Given the description of an element on the screen output the (x, y) to click on. 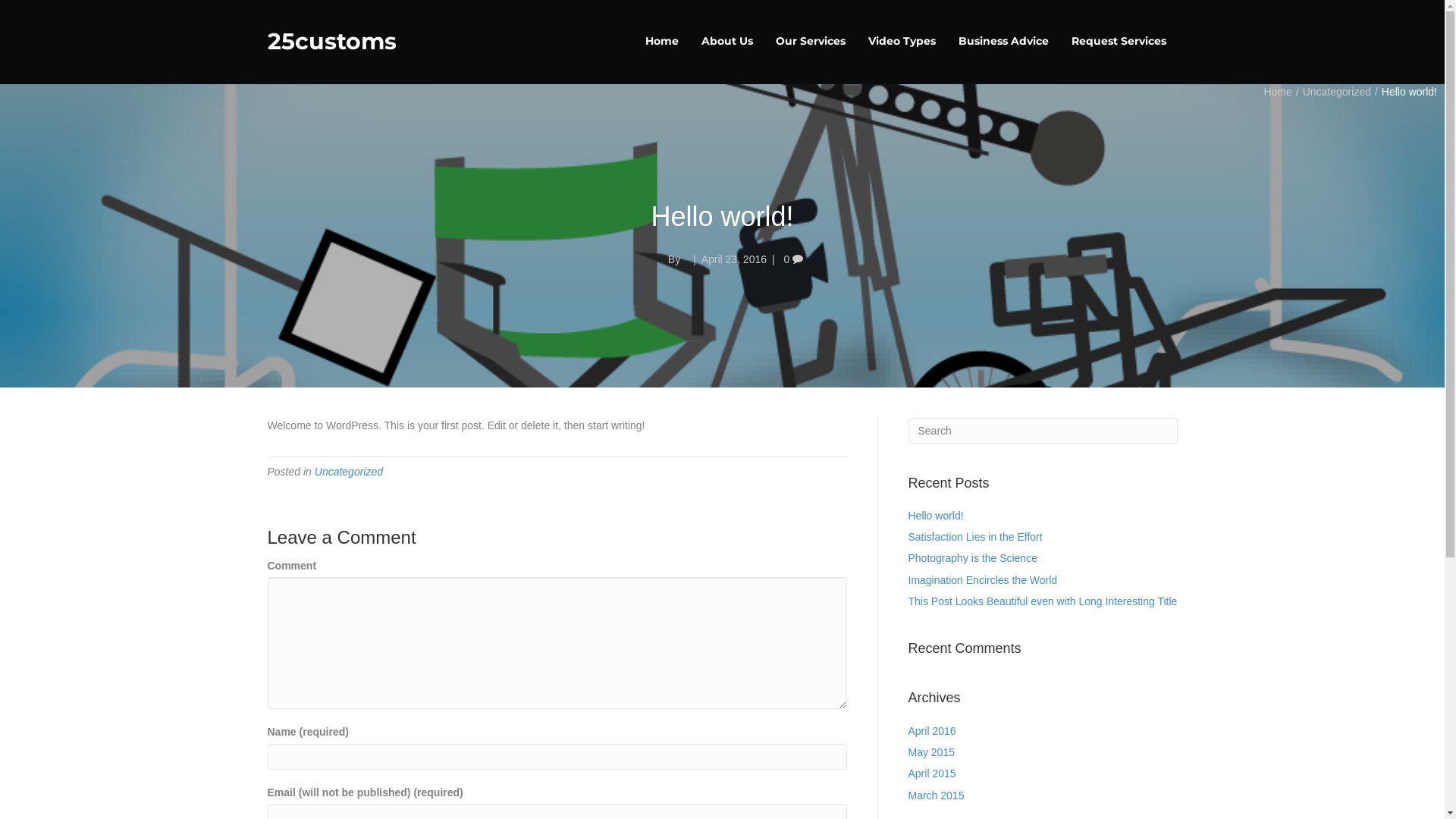
Imagination Encircles the World Element type: text (982, 580)
This Post Looks Beautiful even with Long Interesting Title Element type: text (1042, 601)
Request Services Element type: text (1118, 41)
Home Element type: text (1277, 91)
Photography is the Science Element type: text (972, 558)
Home Element type: text (661, 41)
April 2016 Element type: text (932, 730)
Our Services Element type: text (810, 41)
April 2015 Element type: text (932, 773)
About Us Element type: text (727, 41)
Business Advice Element type: text (1002, 41)
25customs Element type: text (412, 41)
Satisfaction Lies in the Effort Element type: text (975, 536)
March 2015 Element type: text (936, 795)
Type and press Enter to search. Element type: hover (1042, 430)
May 2015 Element type: text (931, 752)
Hello world! Element type: text (935, 515)
0 Element type: text (793, 259)
Uncategorized Element type: text (1336, 91)
Video Types Element type: text (901, 41)
Uncategorized Element type: text (348, 471)
